Given the description of an element on the screen output the (x, y) to click on. 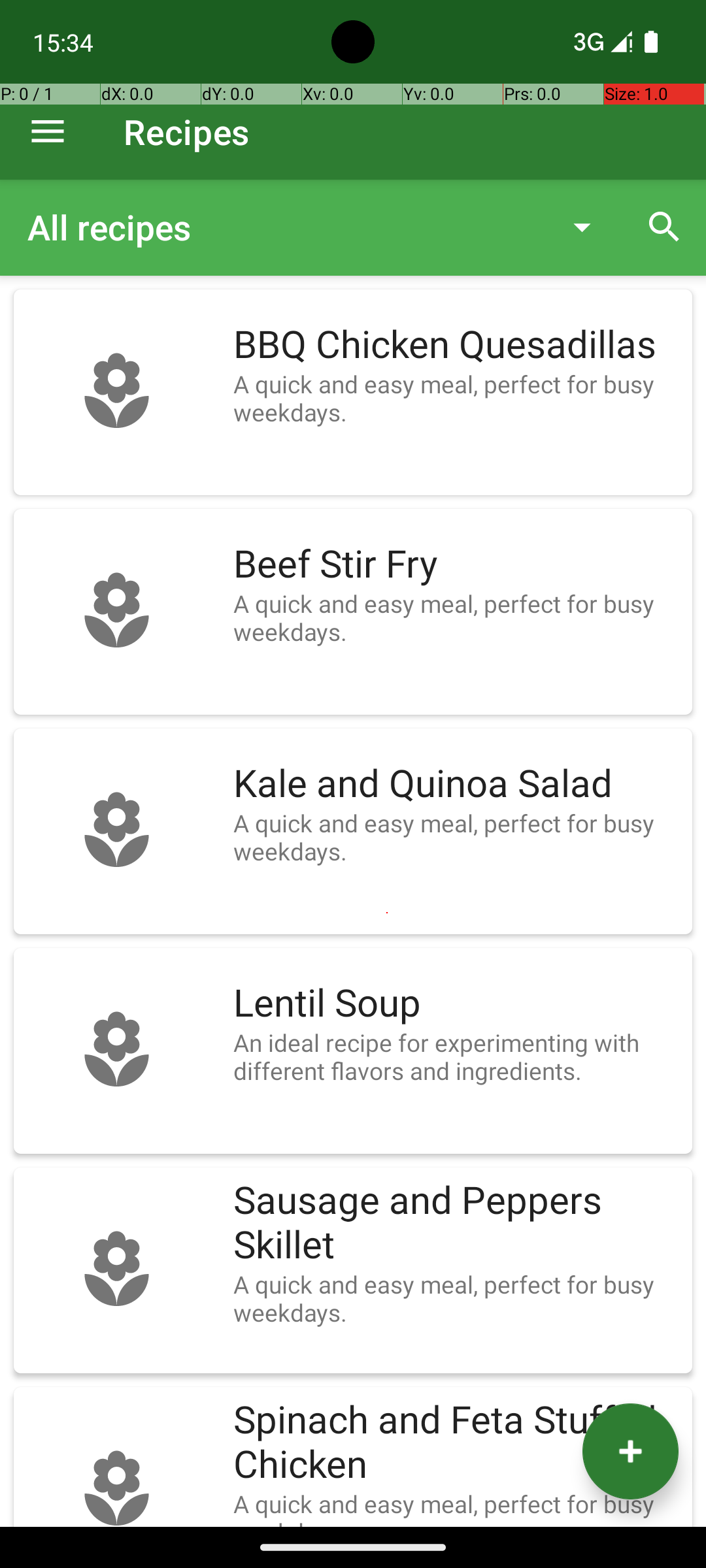
BBQ Chicken Quesadillas Element type: android.widget.TextView (455, 344)
Kale and Quinoa Salad Element type: android.widget.TextView (455, 783)
Lentil Soup Element type: android.widget.TextView (455, 1003)
Sausage and Peppers Skillet Element type: android.widget.TextView (455, 1222)
Spinach and Feta Stuffed Chicken Element type: android.widget.TextView (455, 1442)
